Given the description of an element on the screen output the (x, y) to click on. 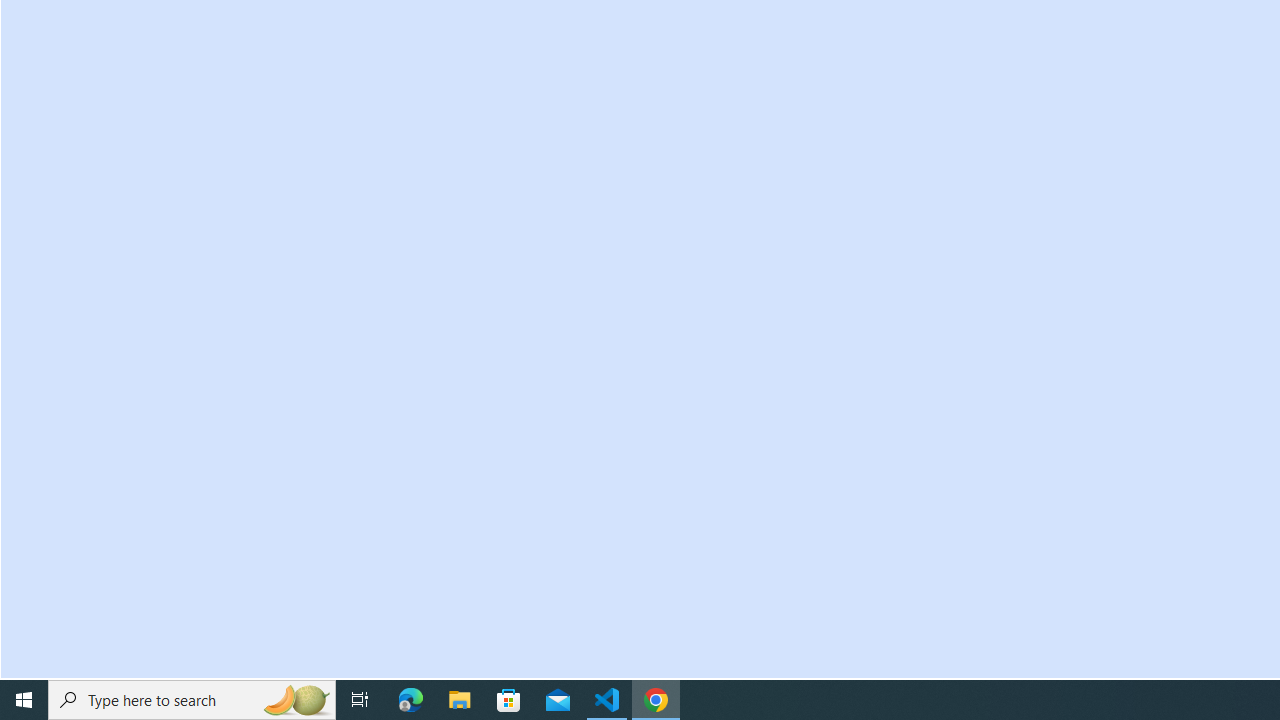
About Chrome (124, 44)
